Given the description of an element on the screen output the (x, y) to click on. 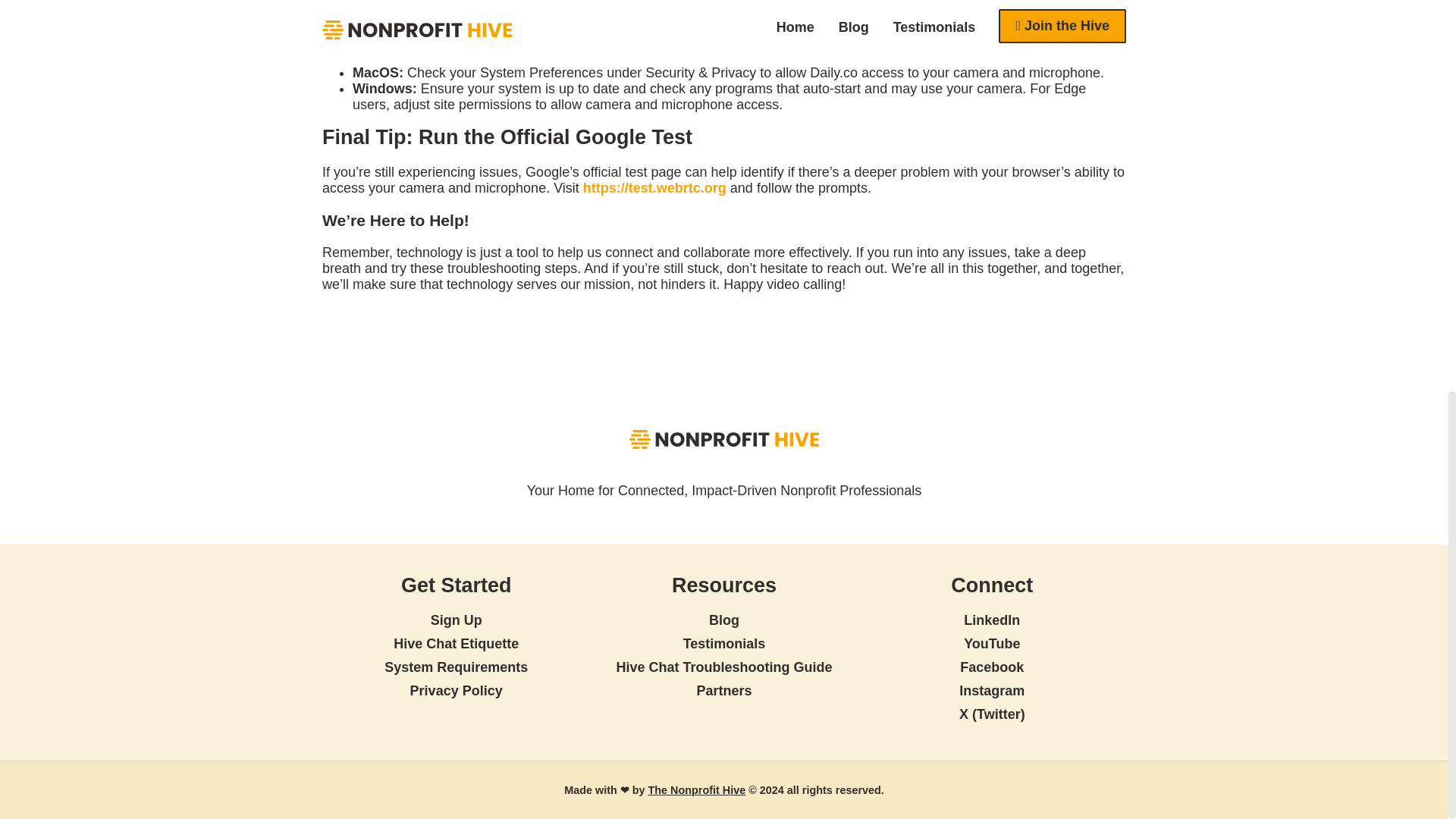
System Requirements (455, 667)
Privacy Policy (456, 690)
LinkedIn (991, 620)
Instagram (992, 690)
Hive Chat Troubleshooting Guide (723, 667)
Partners (723, 690)
Blog (724, 620)
Testimonials (723, 643)
Facebook (991, 667)
The Nonprofit Hive (696, 789)
YouTube (991, 643)
Sign Up (455, 620)
Hive Chat Etiquette (455, 643)
